Given the description of an element on the screen output the (x, y) to click on. 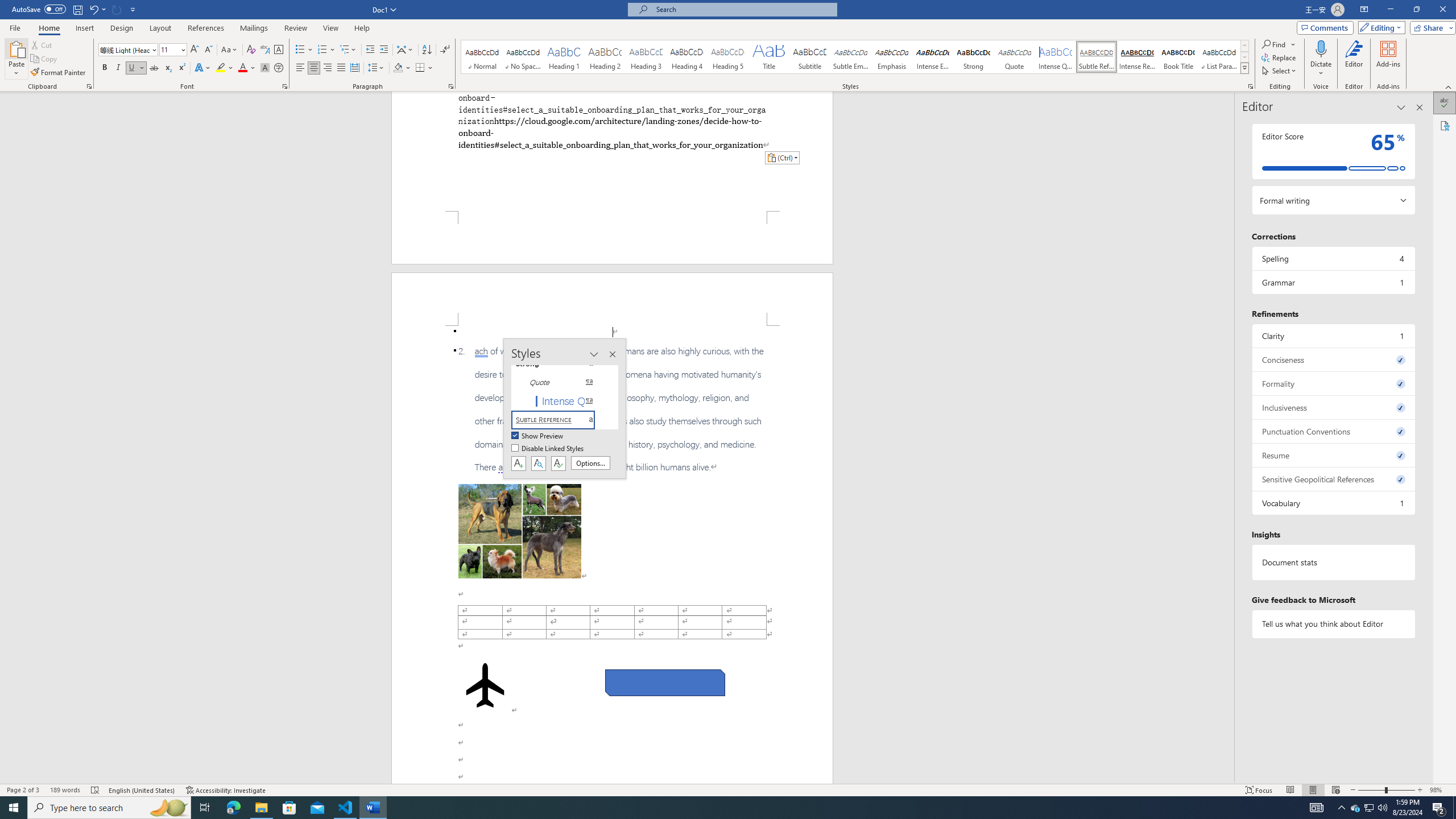
Undo Paste (92, 9)
Grammar, 1 issue. Press space or enter to review items. (1333, 282)
Resume, 0 issues. Press space or enter to review items. (1333, 454)
